Given the description of an element on the screen output the (x, y) to click on. 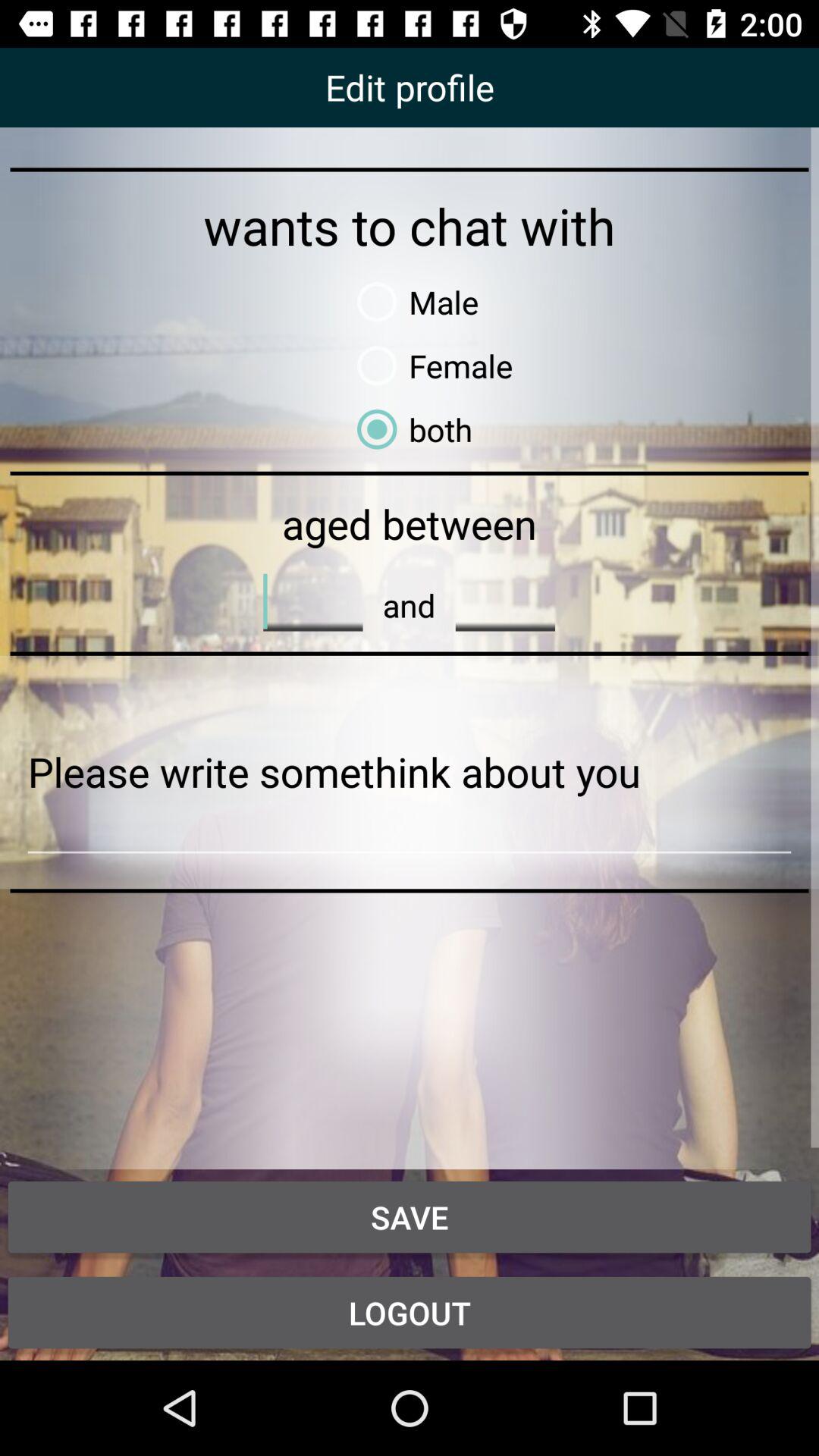
choose age option (505, 601)
